Given the description of an element on the screen output the (x, y) to click on. 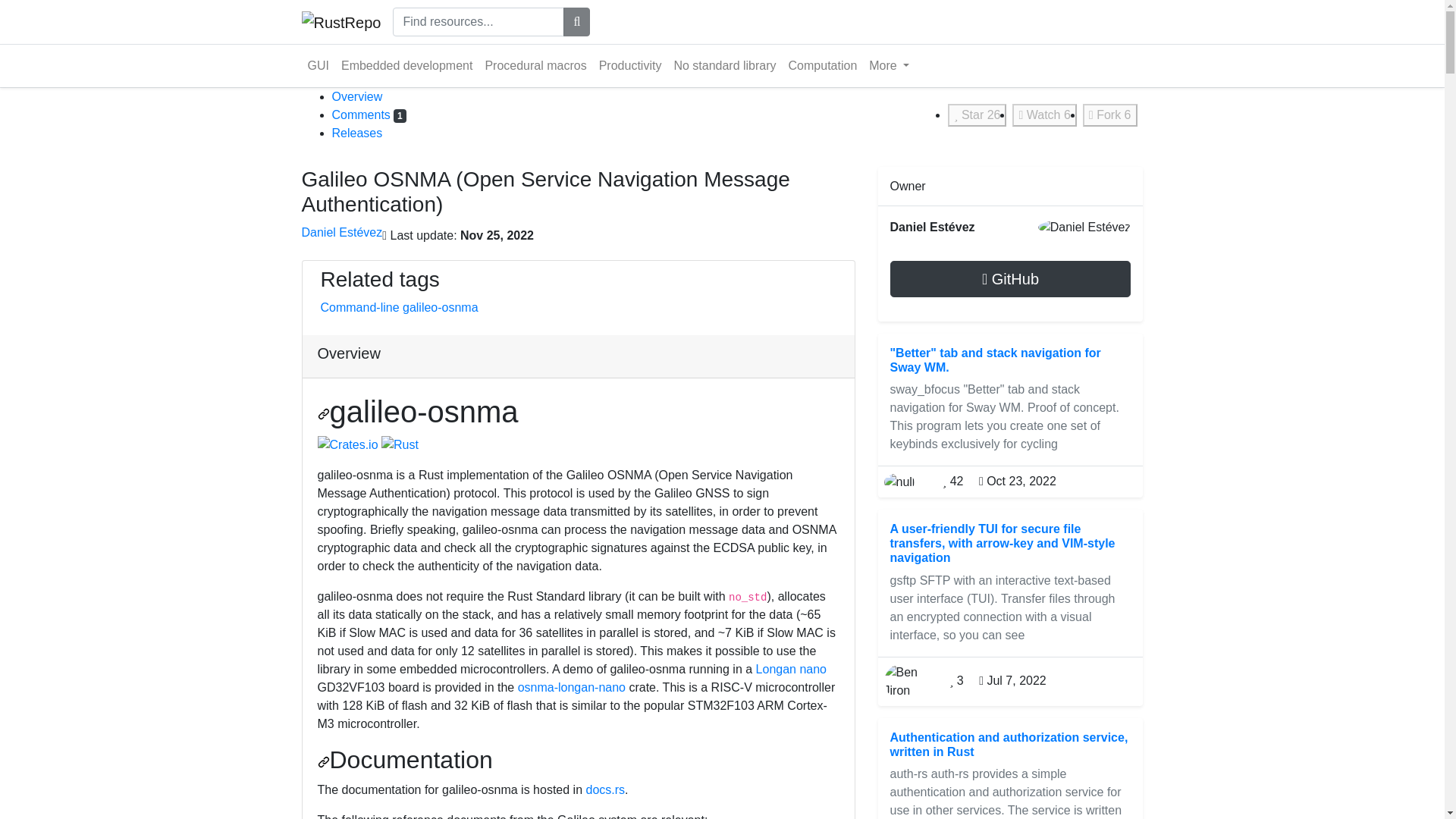
More (889, 65)
GUI (317, 65)
No standard library (723, 65)
Embedded development (406, 65)
Productivity (630, 65)
Procedural macros (535, 65)
Computation (823, 65)
